Given the description of an element on the screen output the (x, y) to click on. 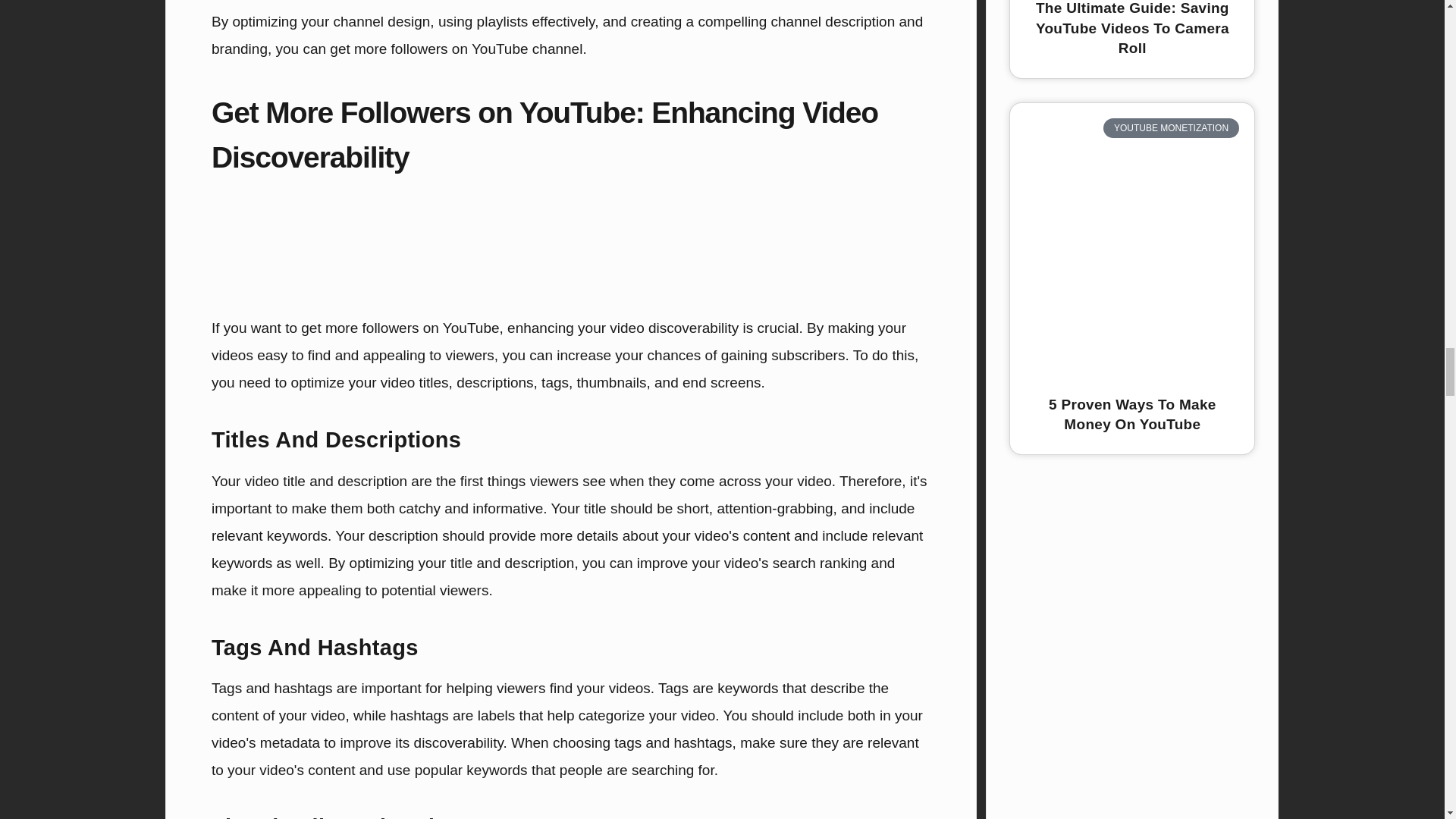
end screens (721, 382)
appealing to viewers (428, 355)
tags and hashtags (673, 742)
enhancing your video discoverability (622, 327)
search ranking (820, 562)
